Given the description of an element on the screen output the (x, y) to click on. 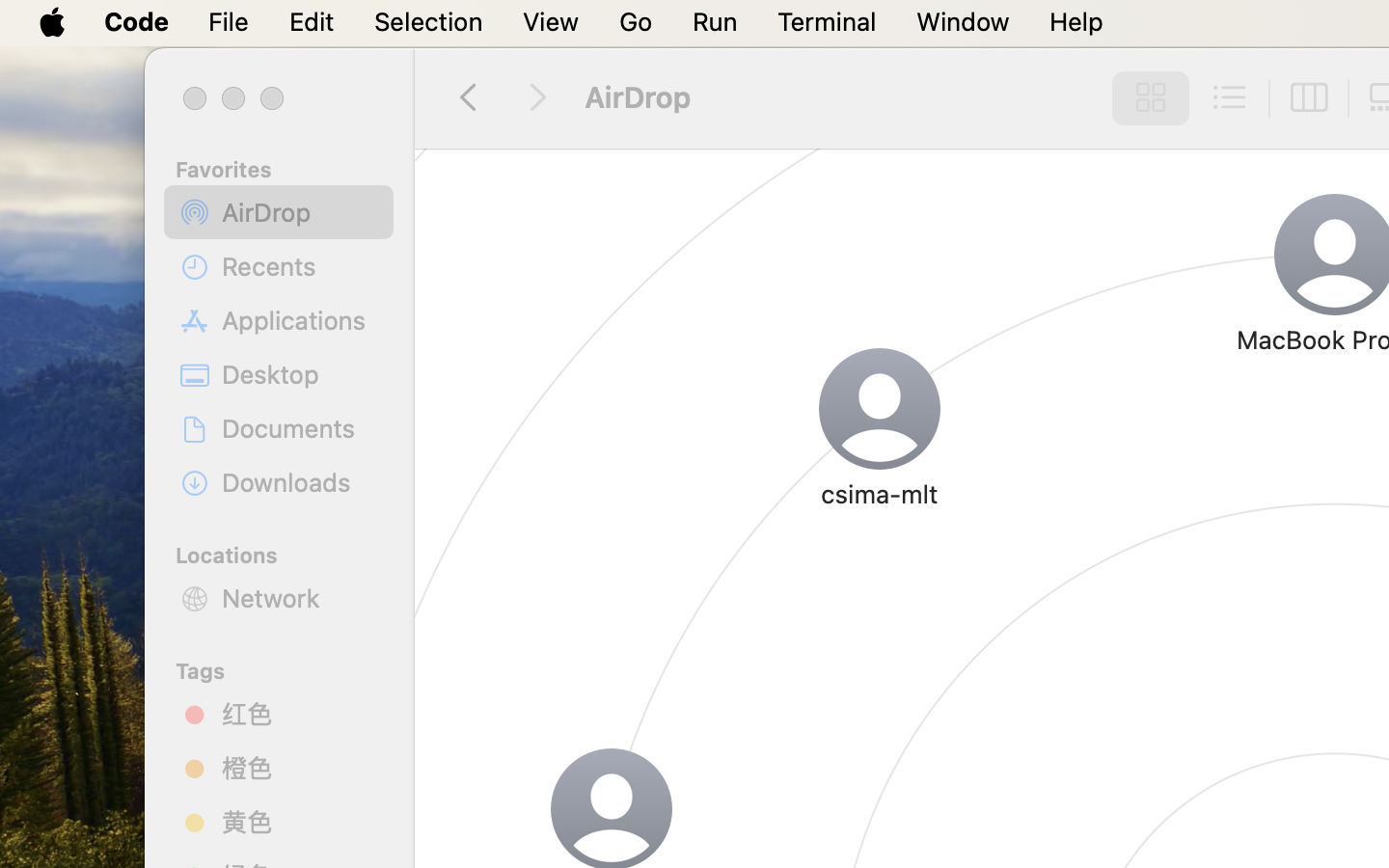
Favorites Element type: AXStaticText (289, 166)
Recents Element type: AXStaticText (299, 265)
AirDrop Element type: AXStaticText (299, 211)
1 Element type: AXRadioButton (1144, 97)
Tags Element type: AXStaticText (289, 668)
